Given the description of an element on the screen output the (x, y) to click on. 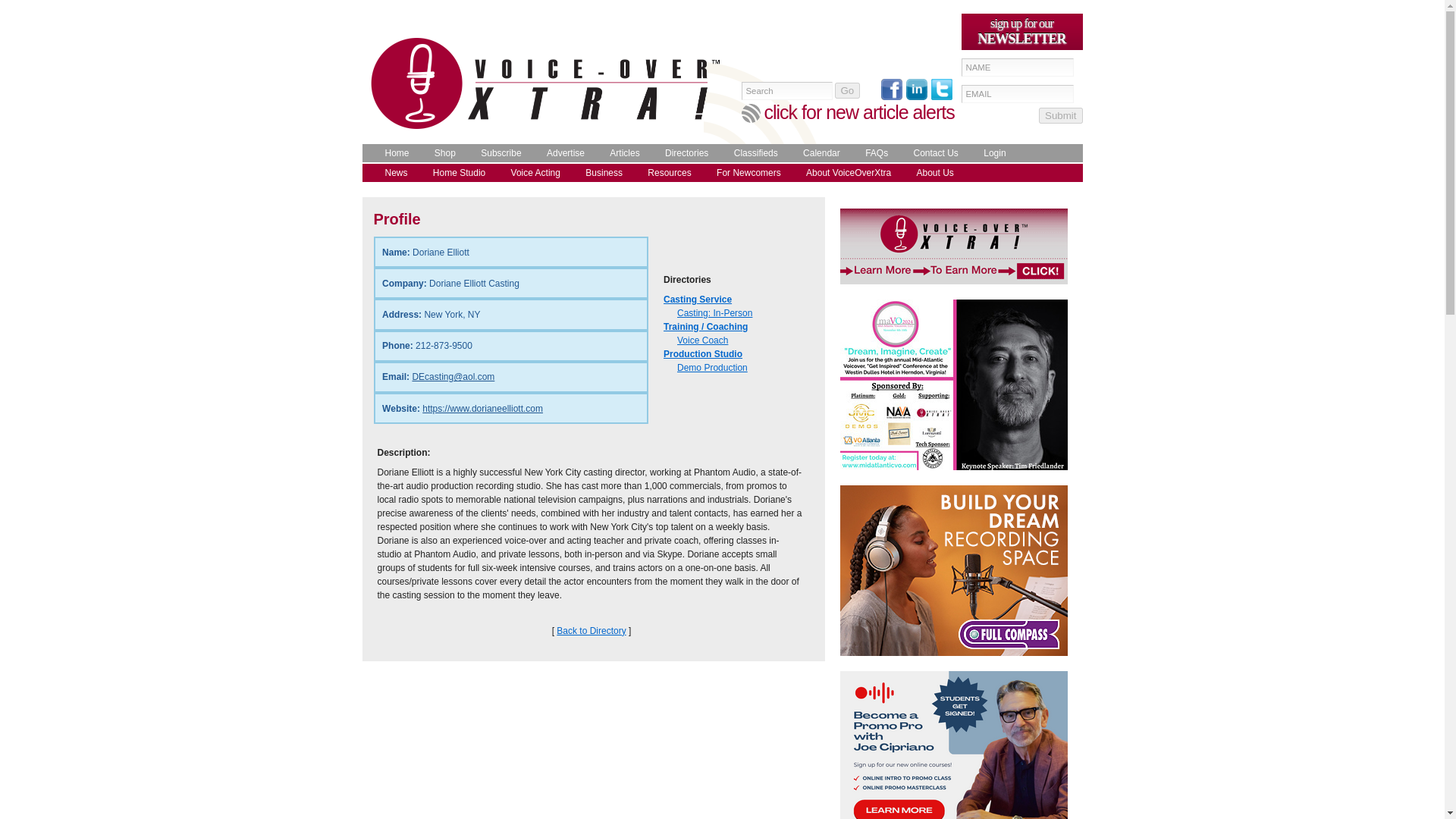
News (392, 172)
Search (786, 90)
Submit (1060, 115)
click for new article alerts (859, 111)
Shop (440, 152)
Login (990, 152)
NAME (1017, 67)
Voice Coach (702, 339)
EMAIL (1017, 94)
FAQs (872, 152)
Articles (620, 152)
Back to Directory (591, 630)
For Newcomers (744, 172)
Classifieds (751, 152)
Casting: In-Person (714, 312)
